Given the description of an element on the screen output the (x, y) to click on. 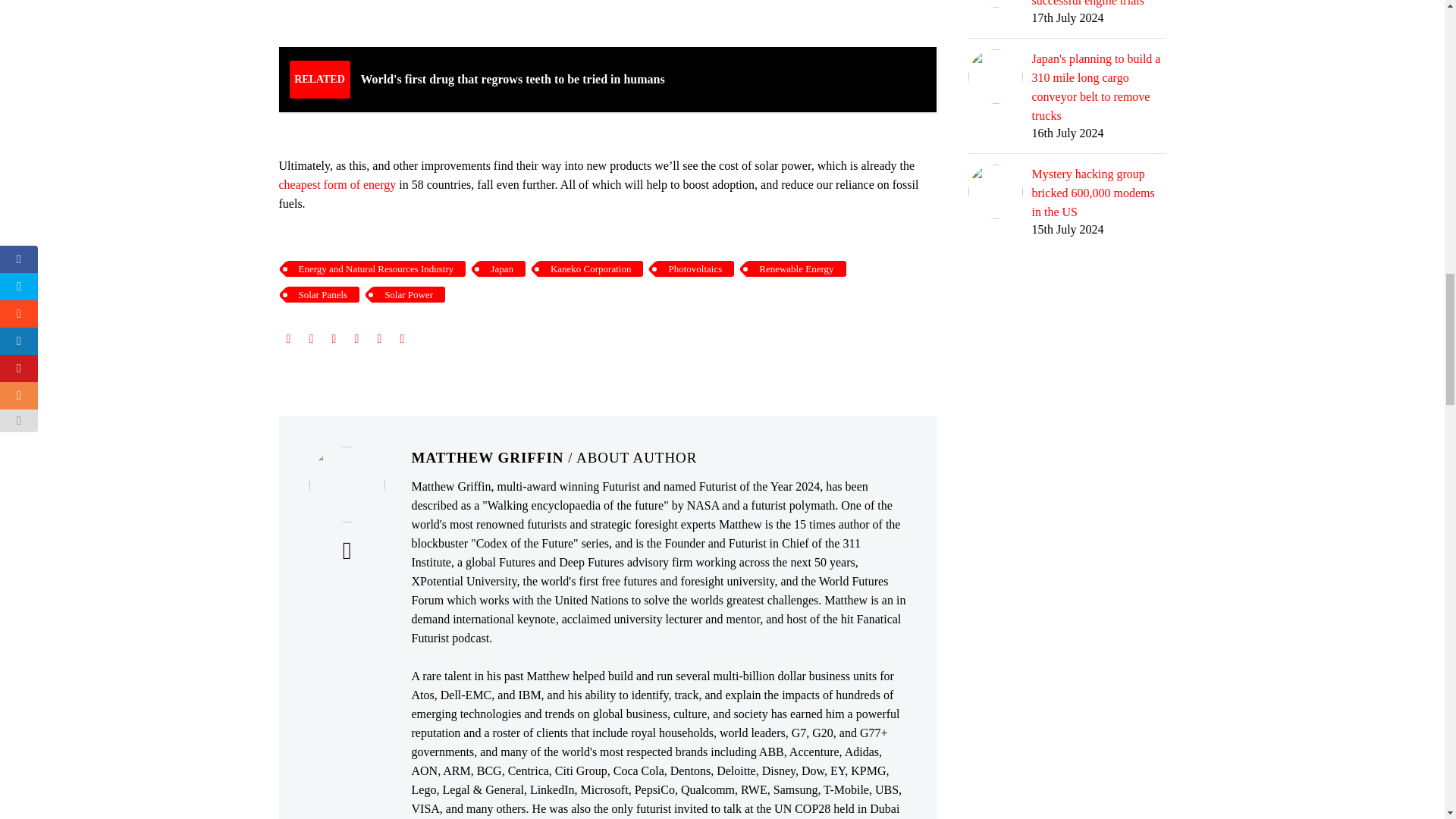
Facebook (288, 338)
